Given the description of an element on the screen output the (x, y) to click on. 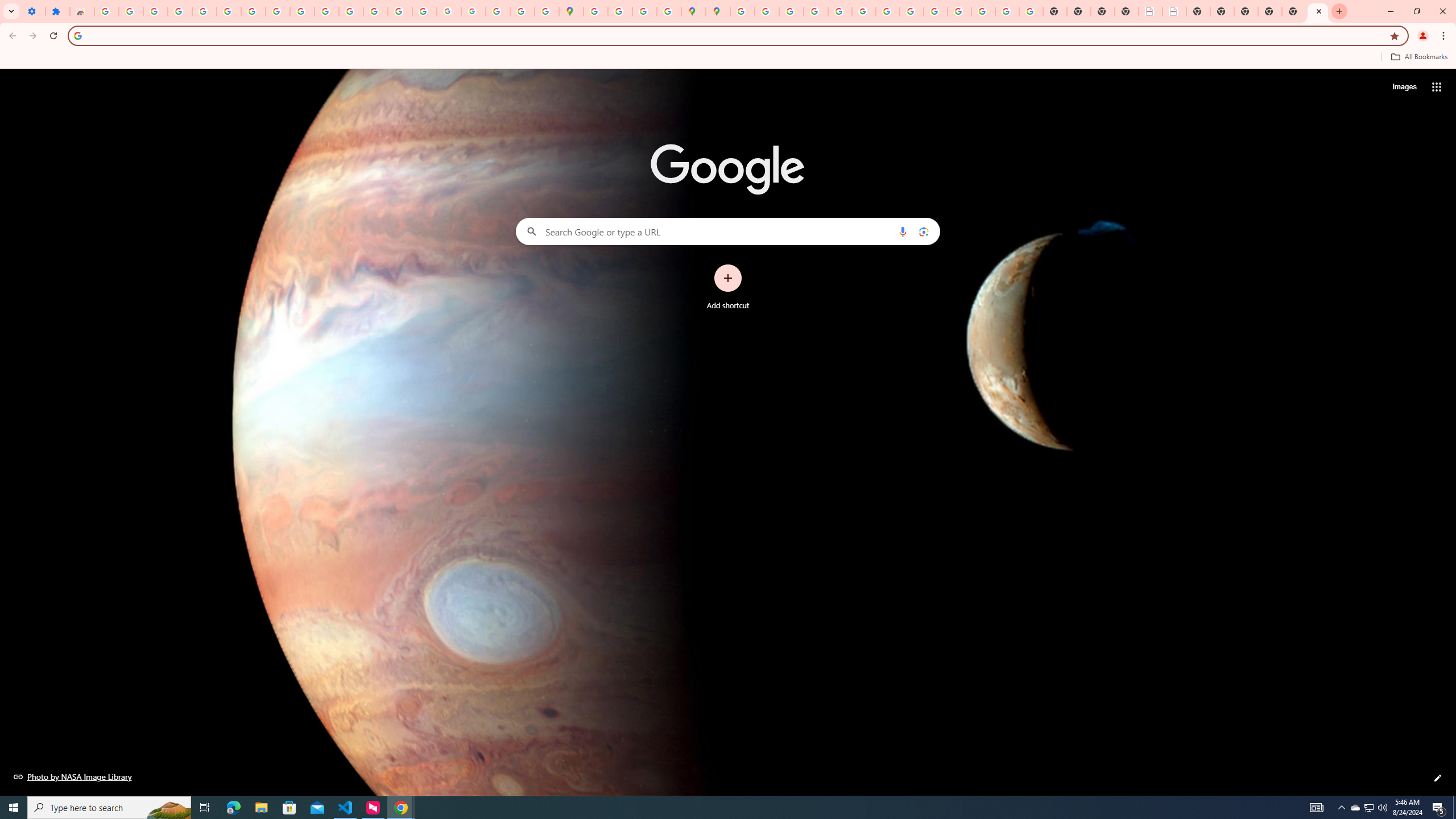
Sign in - Google Accounts (105, 11)
Customize this page (1437, 778)
Google Account (277, 11)
Photo by NASA Image Library (72, 776)
Google Maps (570, 11)
